Given the description of an element on the screen output the (x, y) to click on. 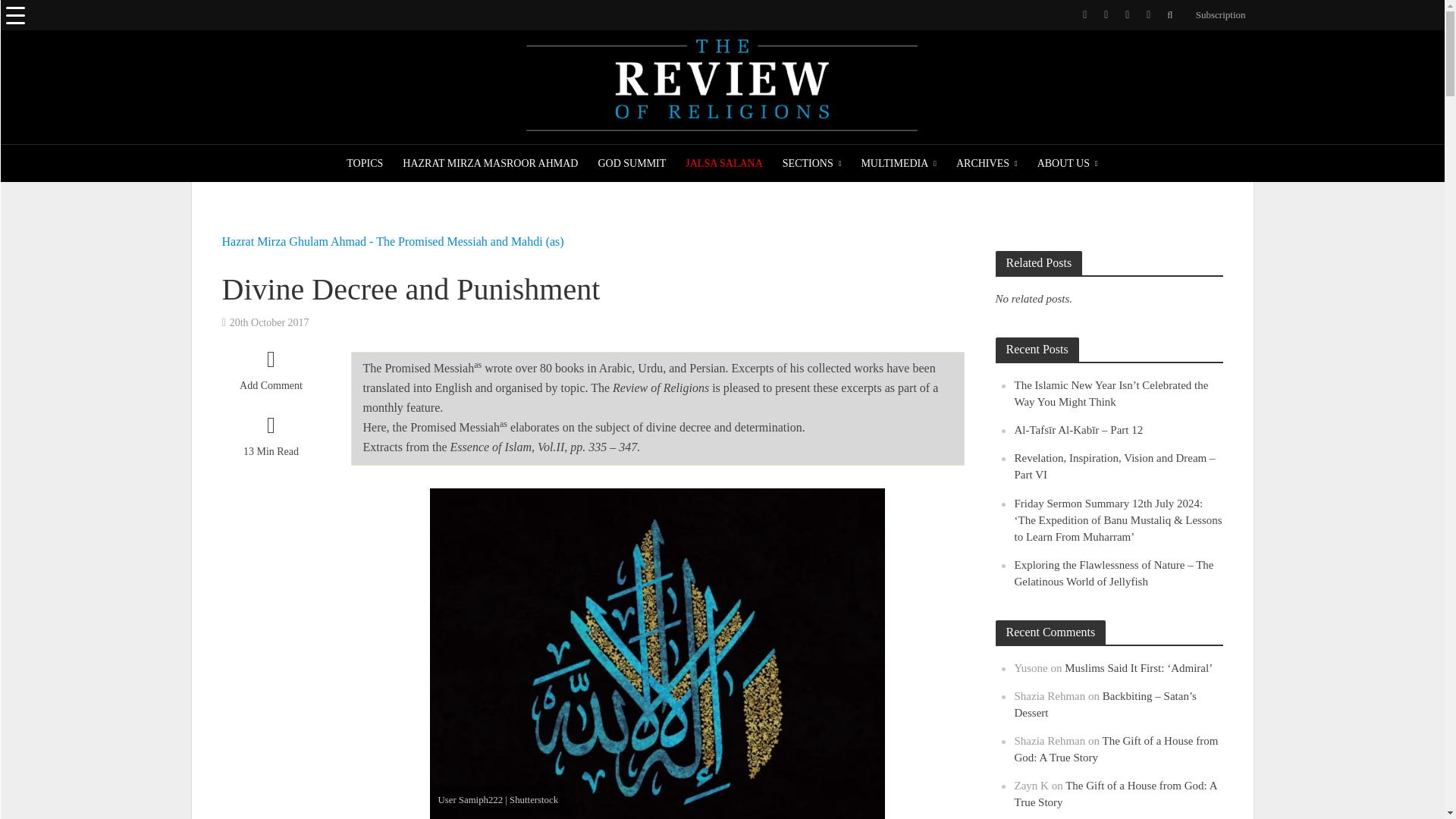
HAZRAT MIRZA MASROOR AHMAD (490, 163)
MULTIMEDIA (898, 163)
SECTIONS (812, 163)
Search (26, 18)
TOPICS (364, 163)
ARCHIVES (986, 163)
JALSA SALANA (724, 163)
GOD SUMMIT (631, 163)
Subscription (1217, 15)
ABOUT US (1067, 163)
